Given the description of an element on the screen output the (x, y) to click on. 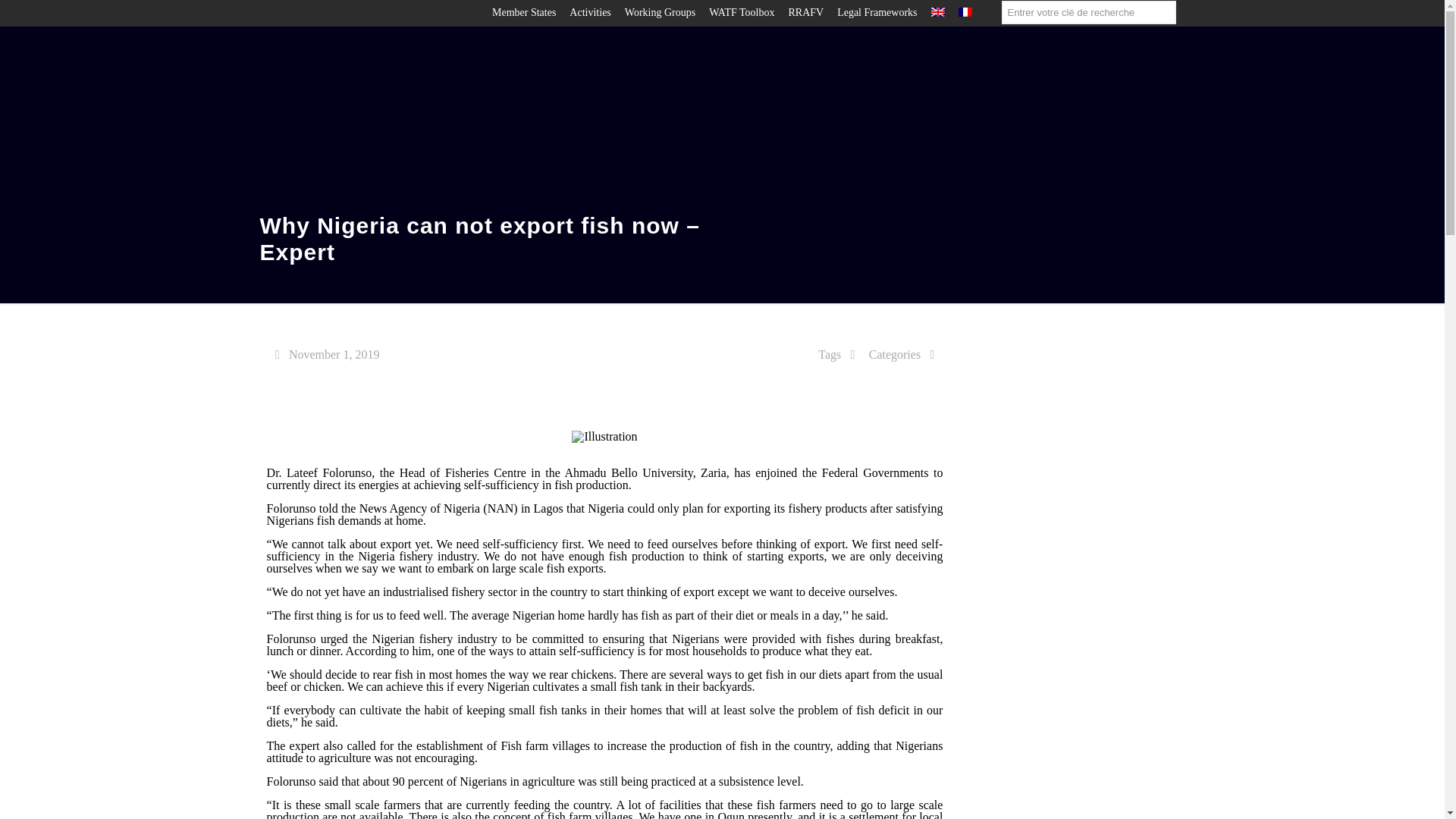
Working Groups (659, 12)
Activities (589, 12)
WATF Toolbox (741, 12)
Member States (524, 12)
RRAFV (805, 12)
Legal Frameworks (877, 12)
